Given the description of an element on the screen output the (x, y) to click on. 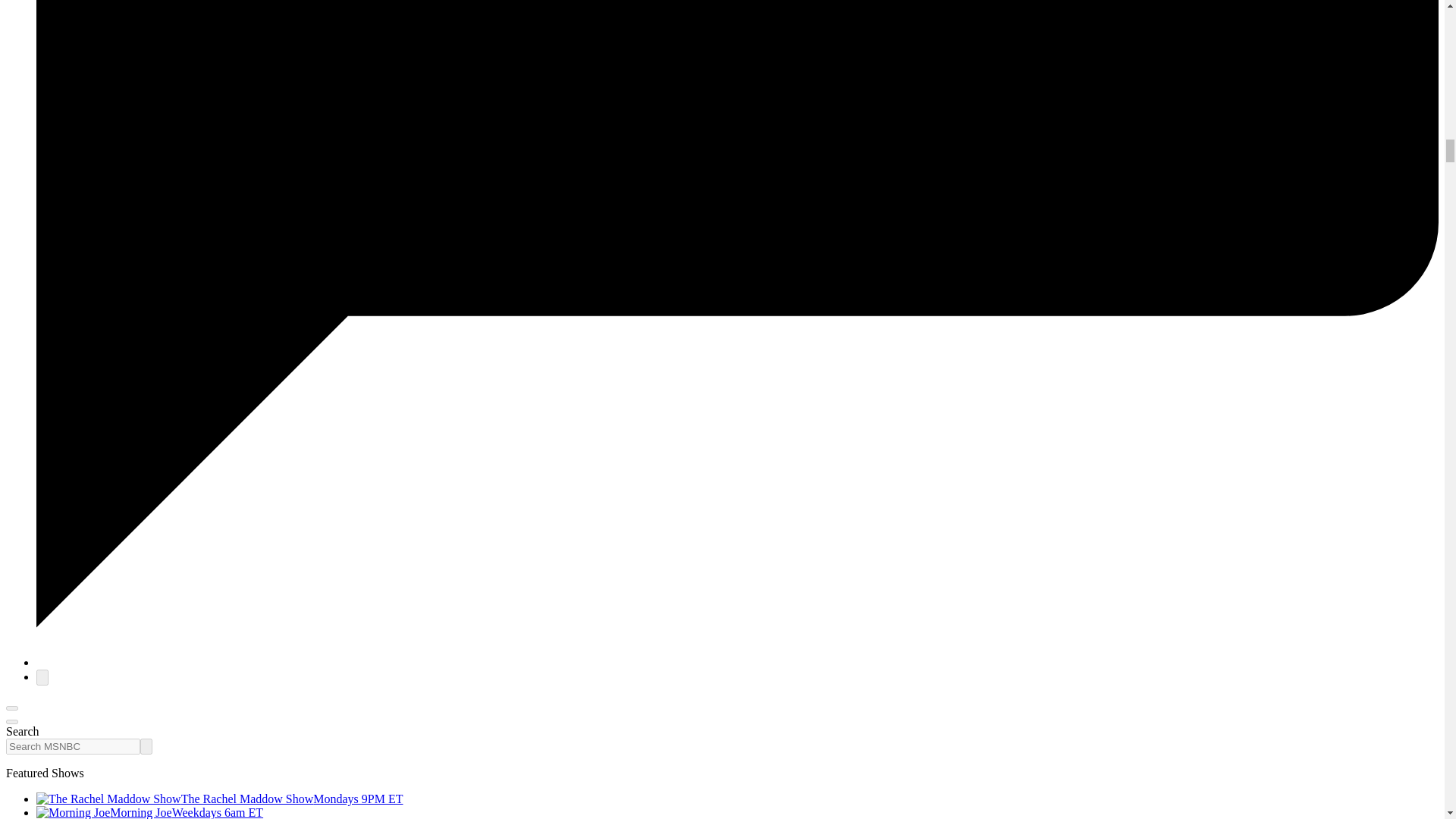
The Rachel Maddow ShowMondays 9PM ET (219, 798)
Morning JoeWeekdays 6am ET (149, 812)
Search (145, 746)
